Given the description of an element on the screen output the (x, y) to click on. 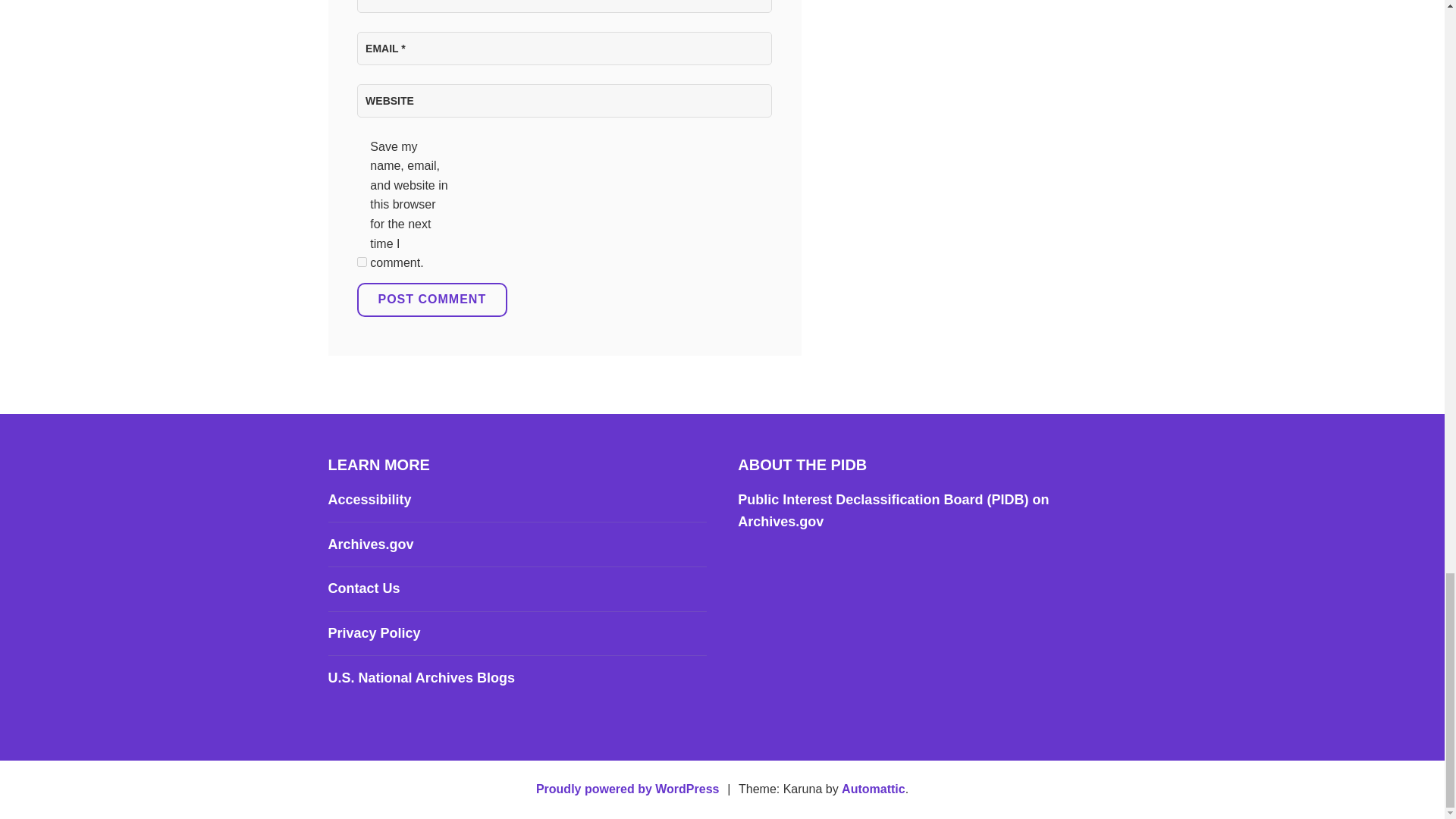
Automattic (873, 788)
Contact information (362, 588)
Proudly powered by WordPress (627, 788)
yes (361, 261)
U.S. National Archives Blogroll (420, 677)
Post Comment (431, 298)
National Archives privacy policy (373, 632)
U.S. National Archives Blogs (420, 677)
Accessibility information on archives.gov (368, 499)
